Given the description of an element on the screen output the (x, y) to click on. 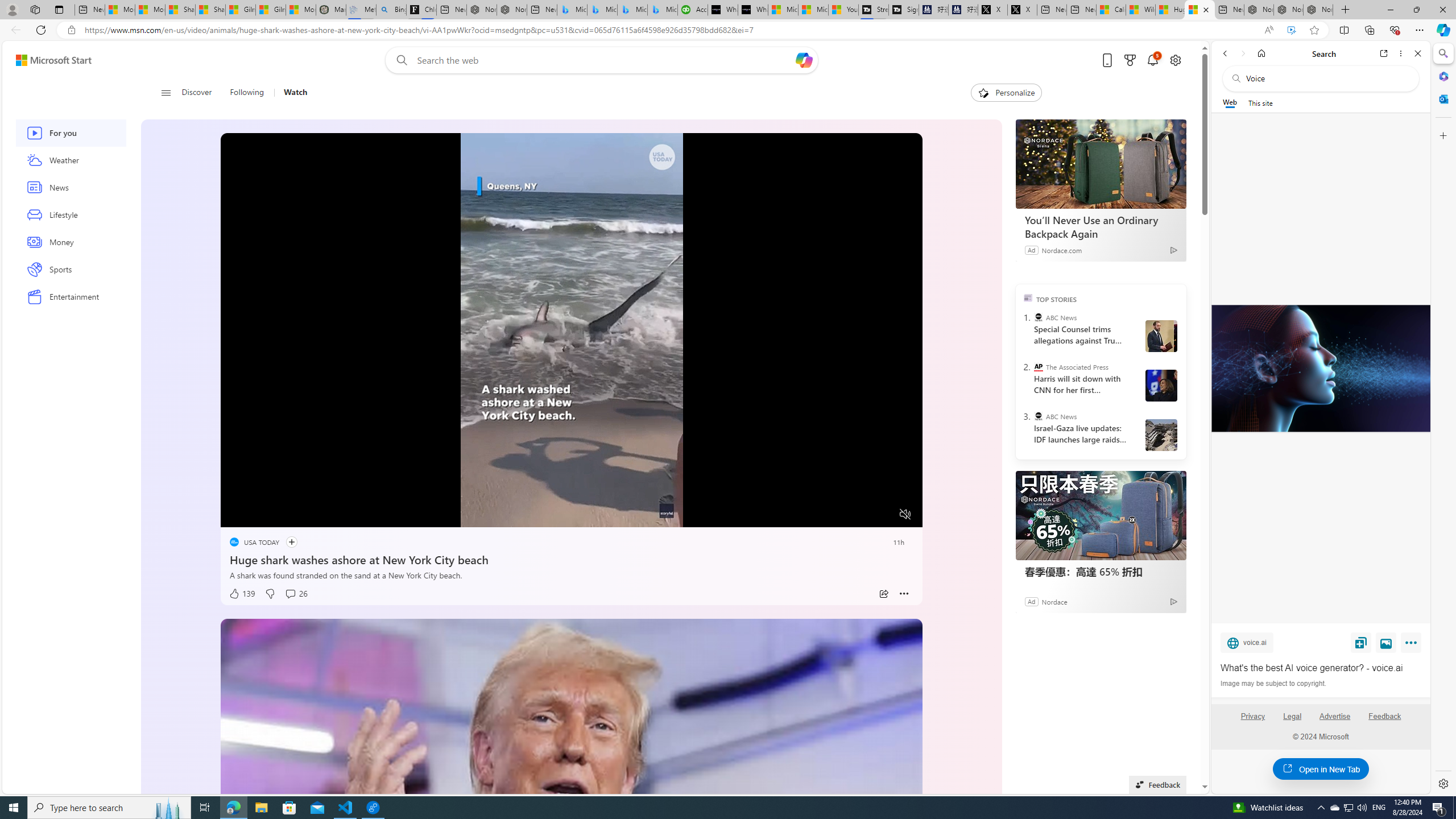
Share (883, 593)
Outlook (1442, 98)
Watch (290, 92)
Watch (295, 92)
ABC News (1037, 415)
Progress Bar (571, 500)
Search the web (1326, 78)
Unmute (905, 514)
To get missing image descriptions, open the context menu. (260, 513)
Dislike (270, 593)
Privacy (1252, 720)
Advertise (1334, 720)
